Given the description of an element on the screen output the (x, y) to click on. 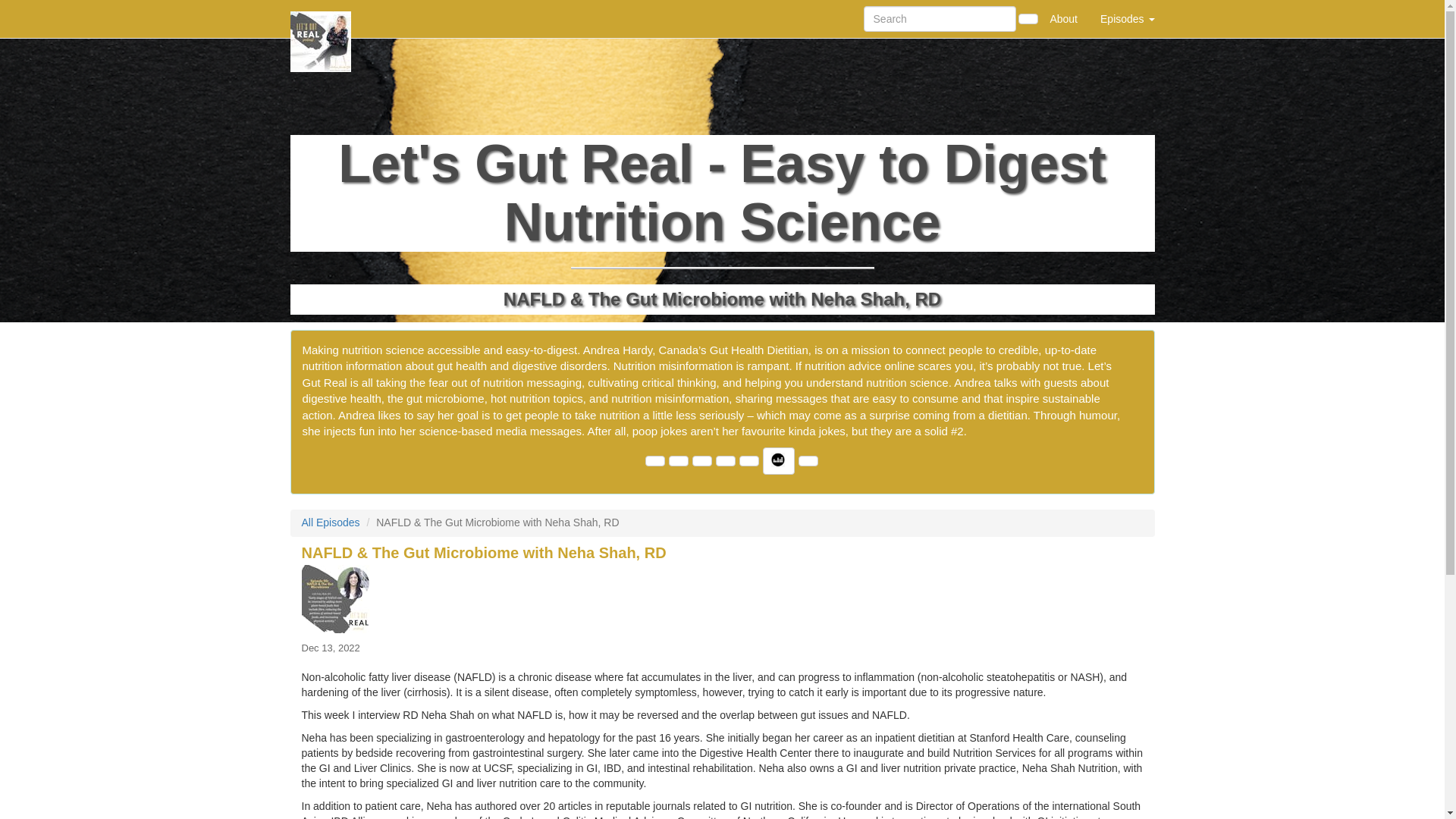
Home Page (320, 18)
About (1063, 18)
Episodes (1127, 18)
